Given the description of an element on the screen output the (x, y) to click on. 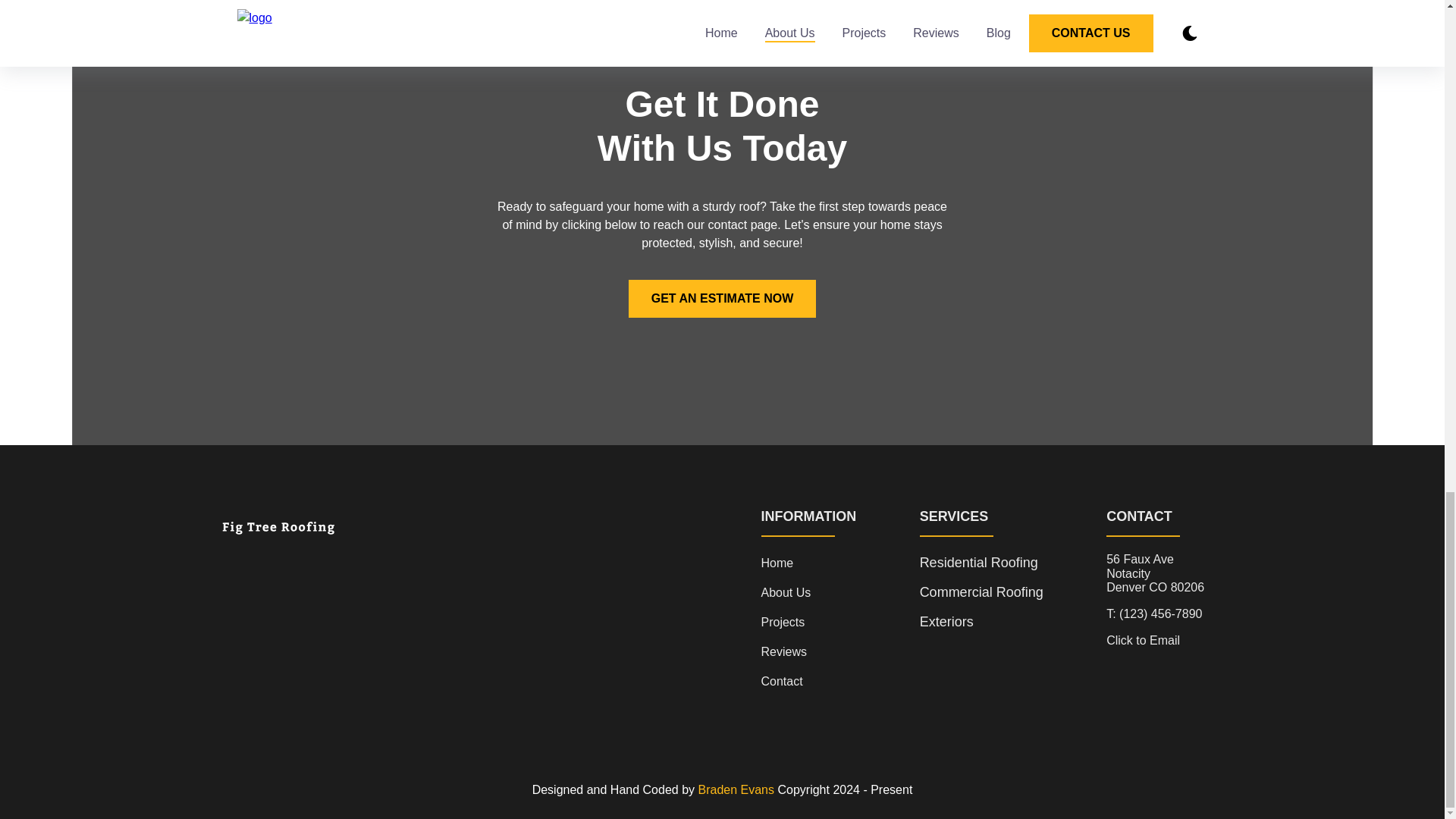
Projects (783, 621)
Reviews (783, 651)
Click to Email (1142, 640)
GET AN ESTIMATE NOW (722, 298)
Home (777, 562)
About Us (785, 592)
Contact (782, 680)
Braden Evans (735, 789)
